Given the description of an element on the screen output the (x, y) to click on. 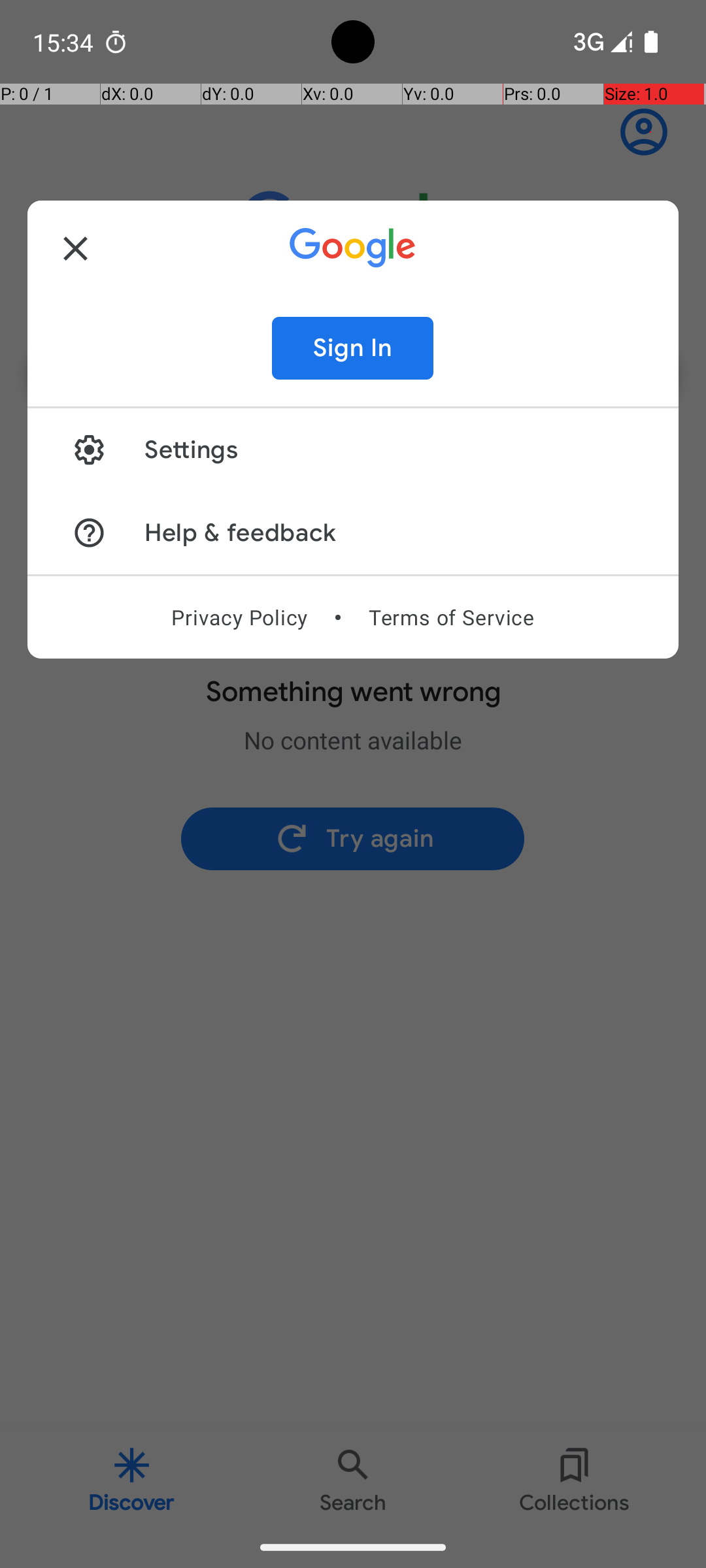
Sign In Element type: android.widget.Button (352, 348)
